Given the description of an element on the screen output the (x, y) to click on. 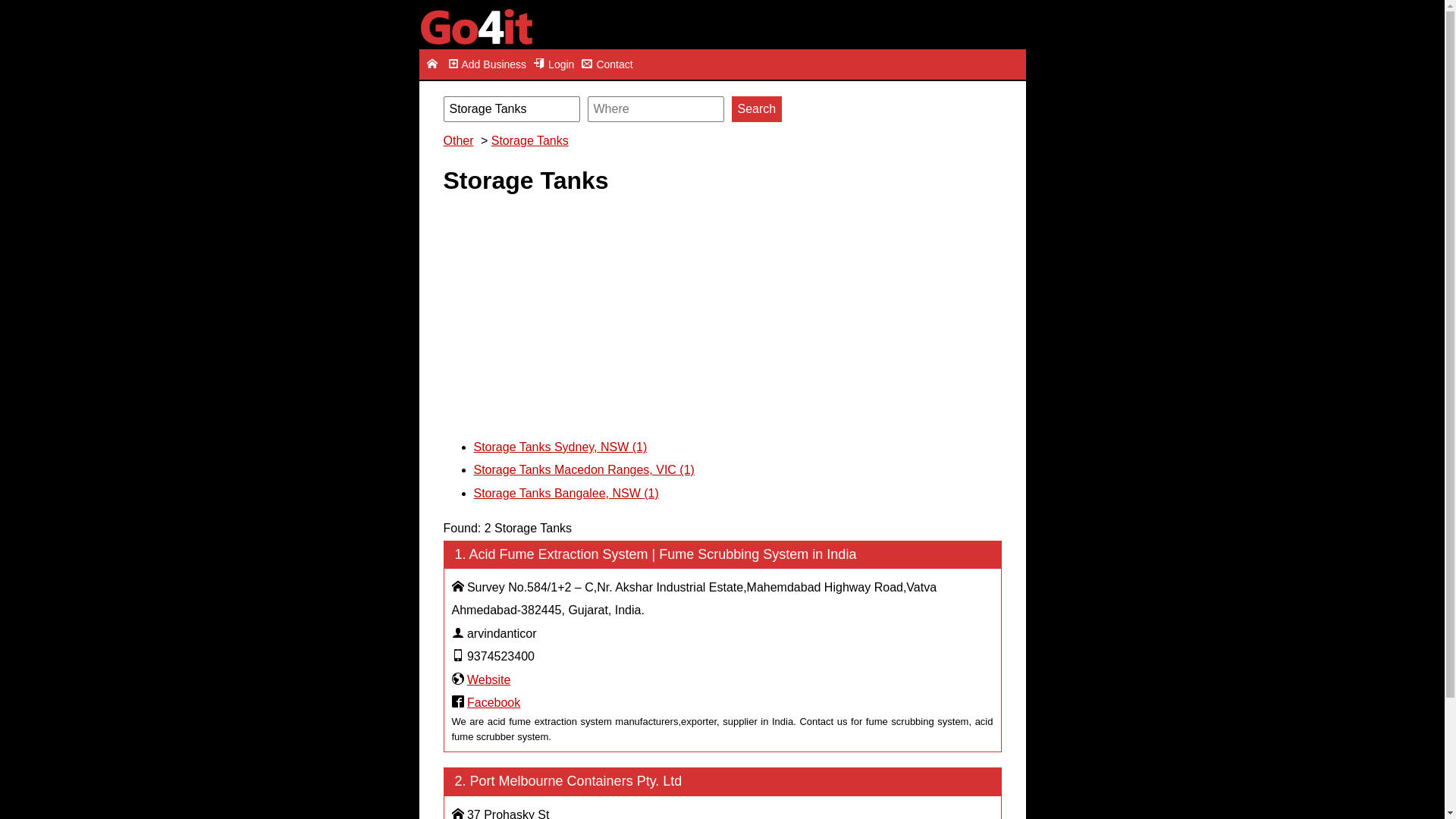
Storage Tanks Bangalee, NSW (1) Element type: text (565, 492)
Storage Tanks Macedon Ranges, VIC (1) Element type: text (583, 469)
Add Business Element type: text (487, 64)
Advertisement Element type: hover (721, 314)
Storage Tanks Sydney, NSW (1) Element type: text (559, 446)
Search Element type: text (756, 109)
Other Element type: text (459, 140)
Storage Tanks Element type: text (531, 140)
Contact Element type: text (606, 64)
Facebook Element type: text (493, 702)
2. Port Melbourne Containers Pty. Ltd Element type: text (721, 780)
Login Element type: text (553, 64)
Website Element type: text (489, 679)
